Given the description of an element on the screen output the (x, y) to click on. 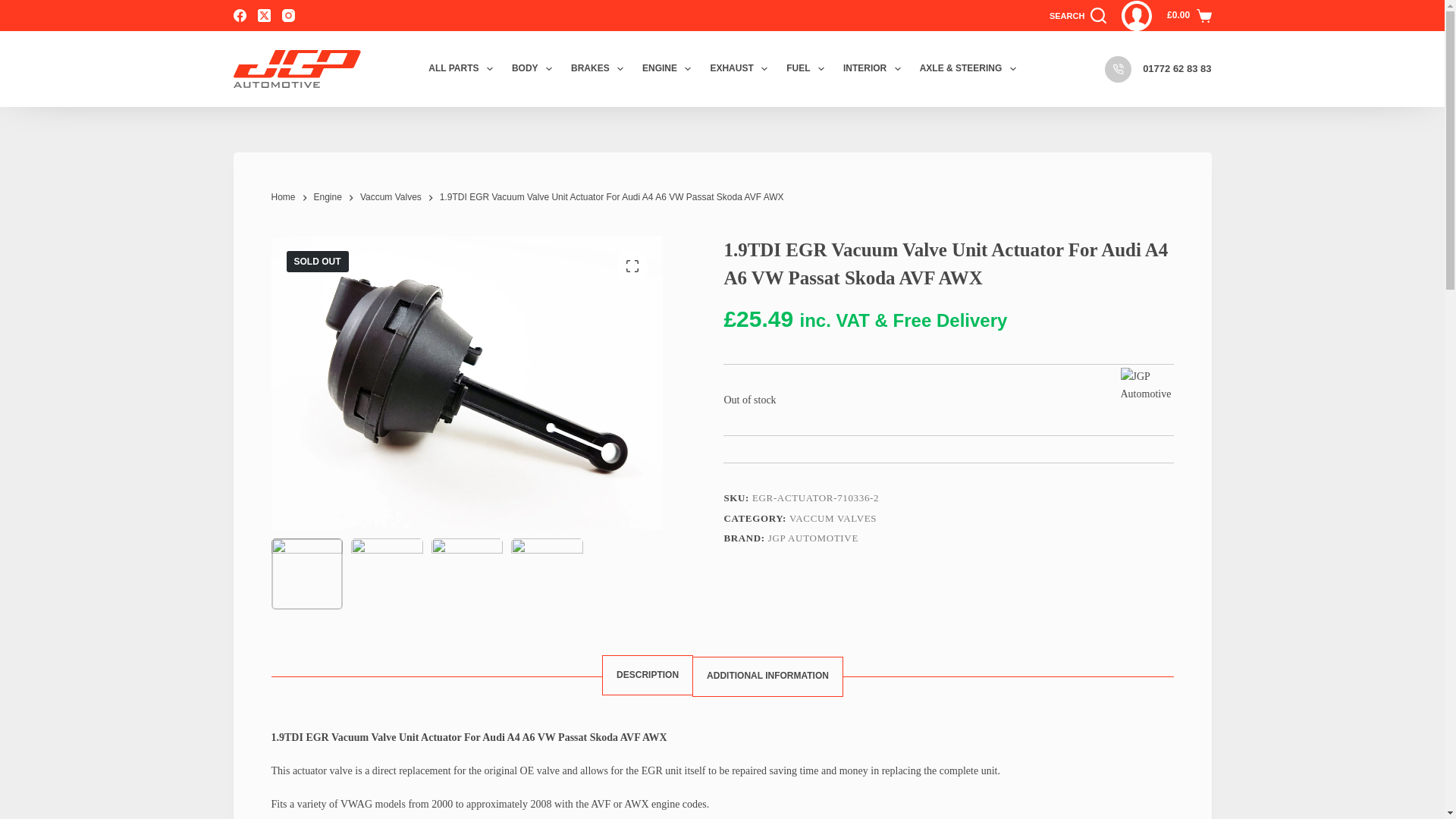
Skip to content (15, 7)
